Given the description of an element on the screen output the (x, y) to click on. 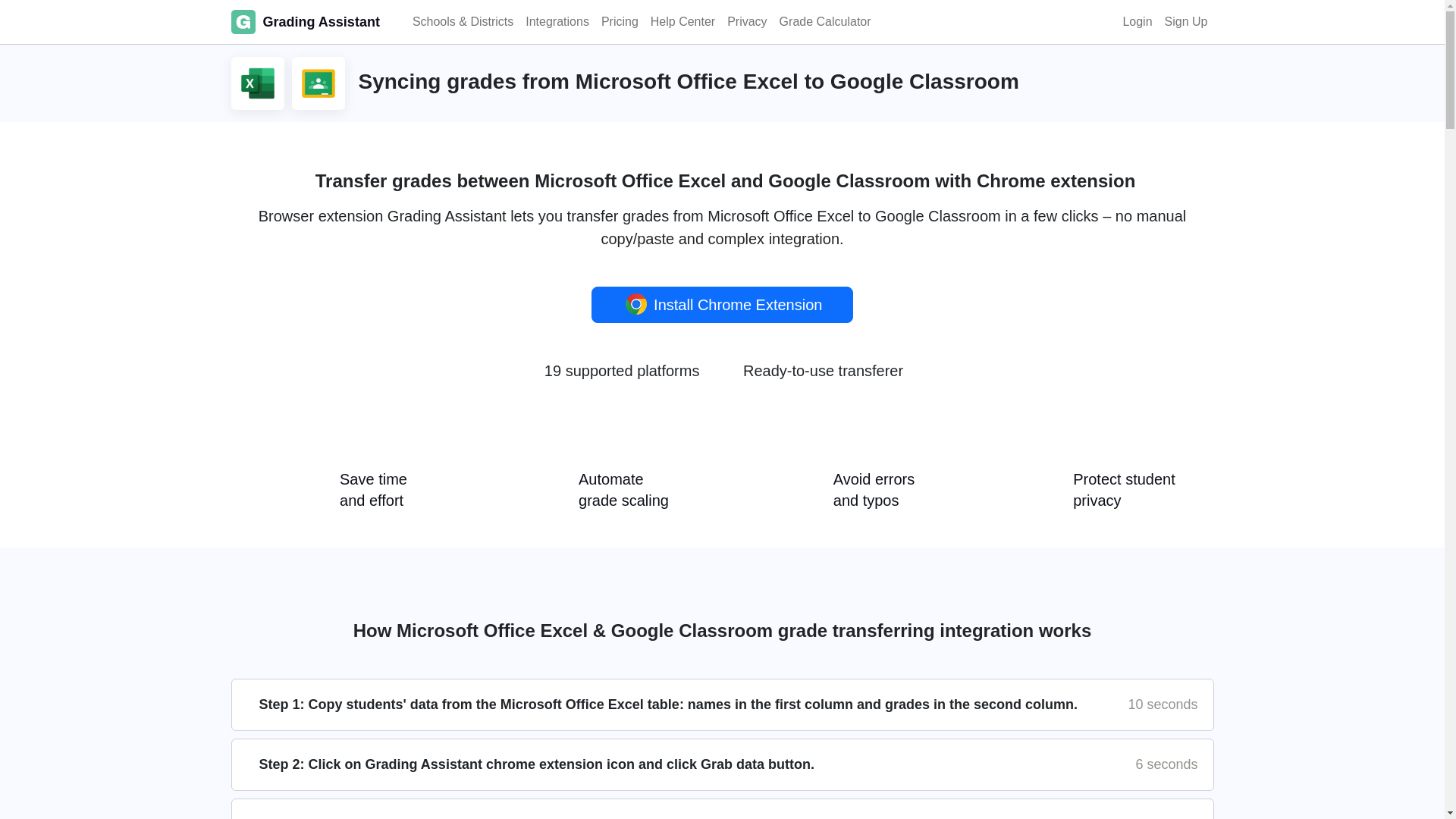
Sync grades from Microsoft Office Excel (257, 83)
Grading Assistant Chrome Extension (636, 303)
Integrations (557, 21)
Login (1136, 21)
Grade Calculator (825, 21)
Sign Up (1186, 21)
Grading Assistant (304, 21)
Sync grades with Google Classroom (317, 83)
Privacy (746, 21)
Pricing (620, 21)
